Given the description of an element on the screen output the (x, y) to click on. 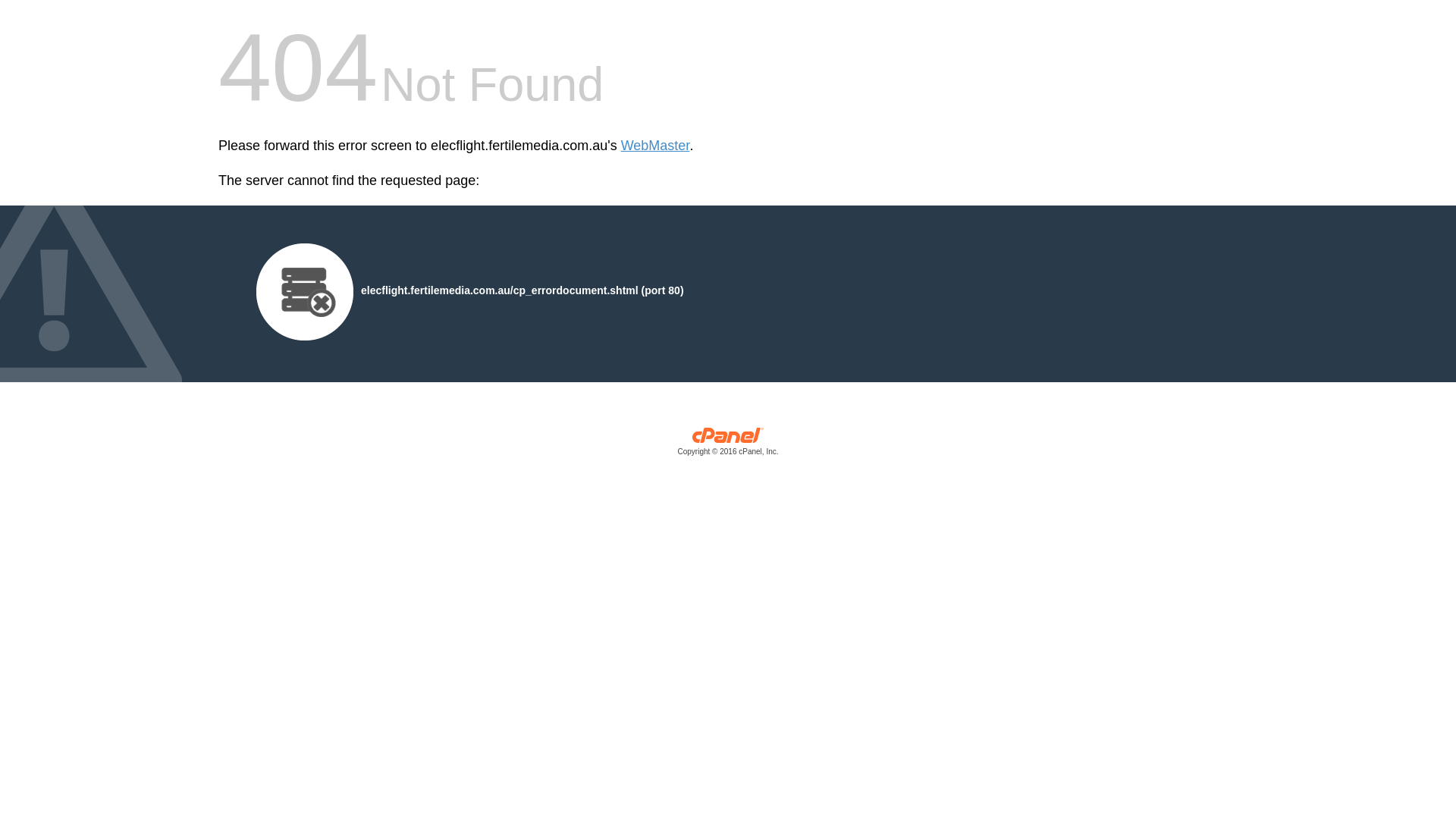
WebMaster Element type: text (655, 145)
